Given the description of an element on the screen output the (x, y) to click on. 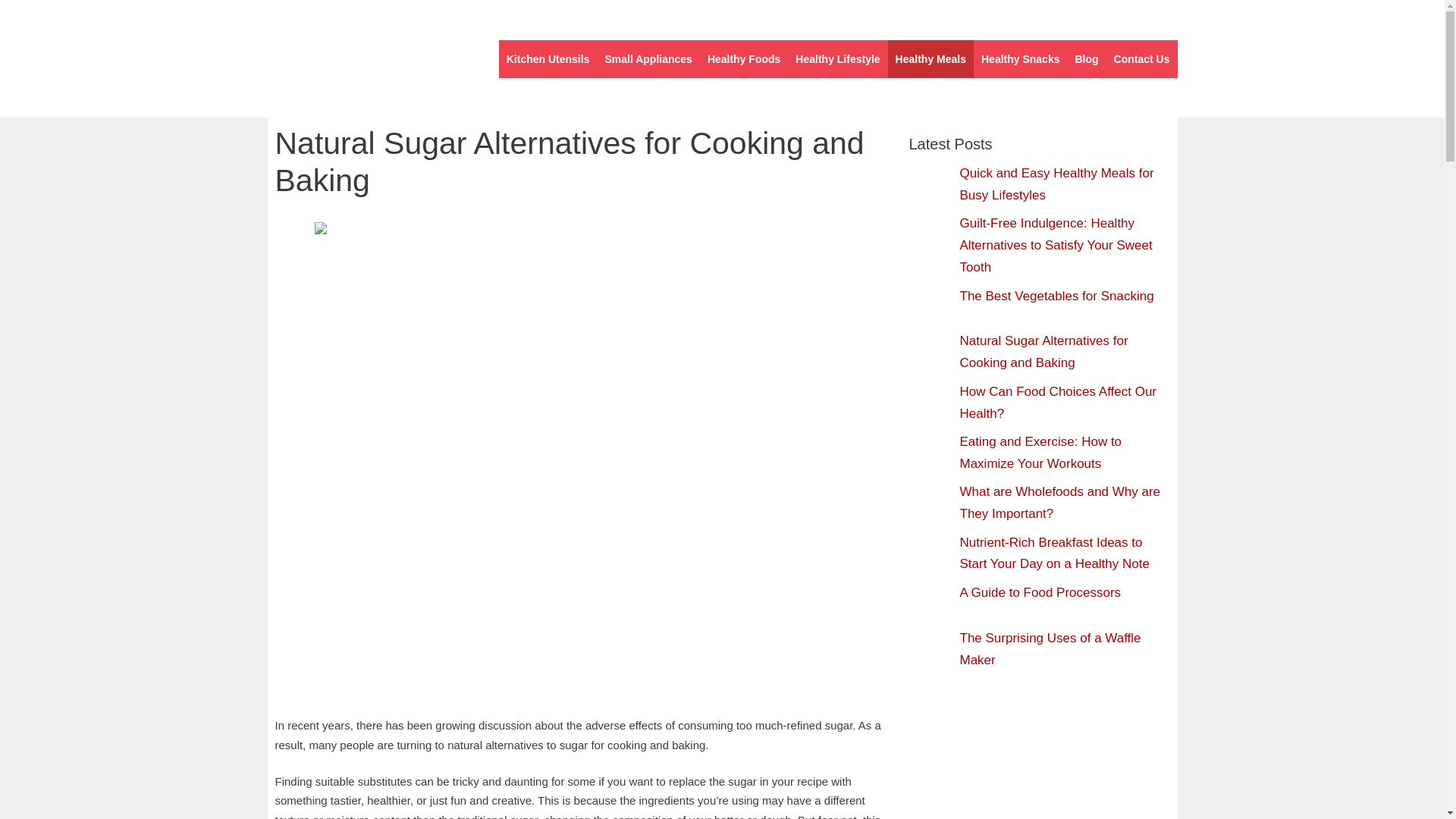
What are Wholefoods and Why are They Important? (1059, 502)
The Surprising Uses of a Waffle Maker (1050, 648)
Healthy Lifestyle (836, 58)
Healthy Foods (743, 58)
How Can Food Choices Affect Our Health? (1058, 402)
Small Appliances (647, 58)
Contact Us (1141, 58)
Kitchen Utensils (547, 58)
Natural Sugar Alternatives for Cooking and Baking (1043, 351)
Blog (1086, 58)
The Best Vegetables for Snacking (1056, 295)
Quick and Easy Healthy Meals for Busy Lifestyles (1056, 184)
Healthy Meals (931, 58)
